Given the description of an element on the screen output the (x, y) to click on. 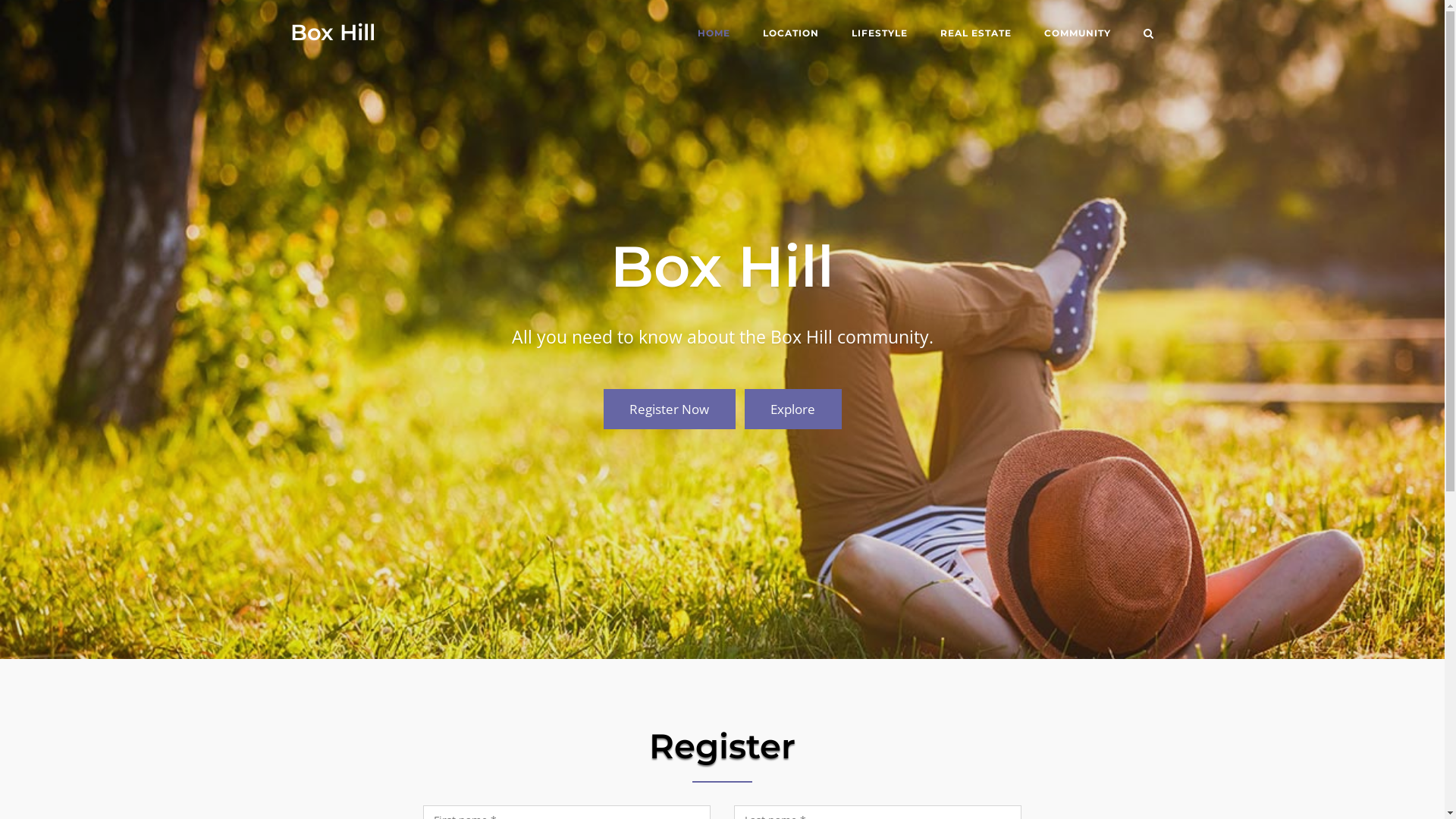
Explore Element type: text (792, 409)
HOME Element type: text (713, 34)
COMMUNITY Element type: text (1076, 34)
LIFESTYLE Element type: text (878, 34)
Box Hill Element type: text (331, 31)
REAL ESTATE Element type: text (975, 34)
Register Now Element type: text (669, 409)
LOCATION Element type: text (790, 34)
